Given the description of an element on the screen output the (x, y) to click on. 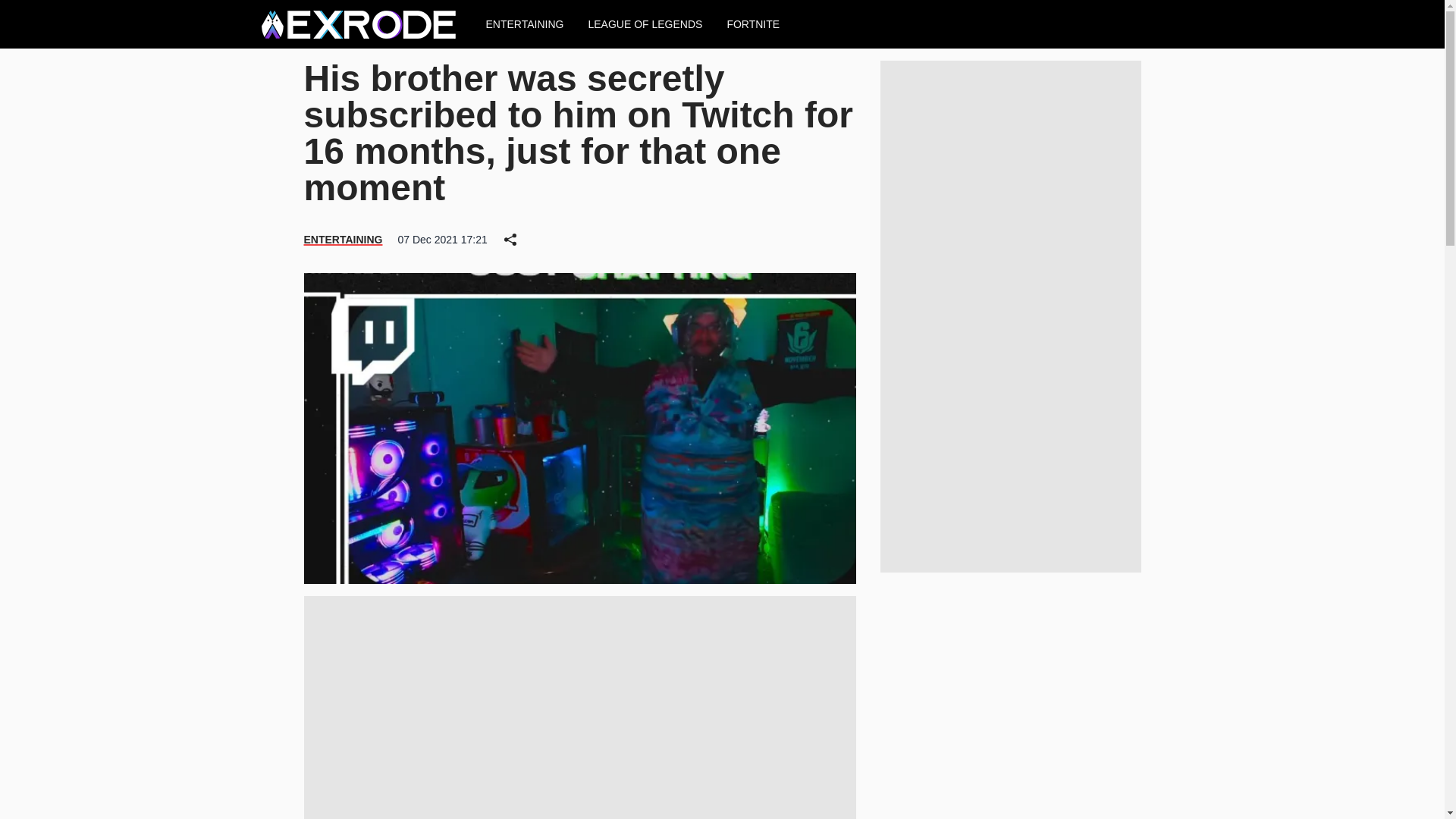
LEAGUE OF LEGENDS (644, 24)
ENTERTAINING (341, 239)
FORTNITE (753, 24)
ENTERTAINING (524, 24)
